Given the description of an element on the screen output the (x, y) to click on. 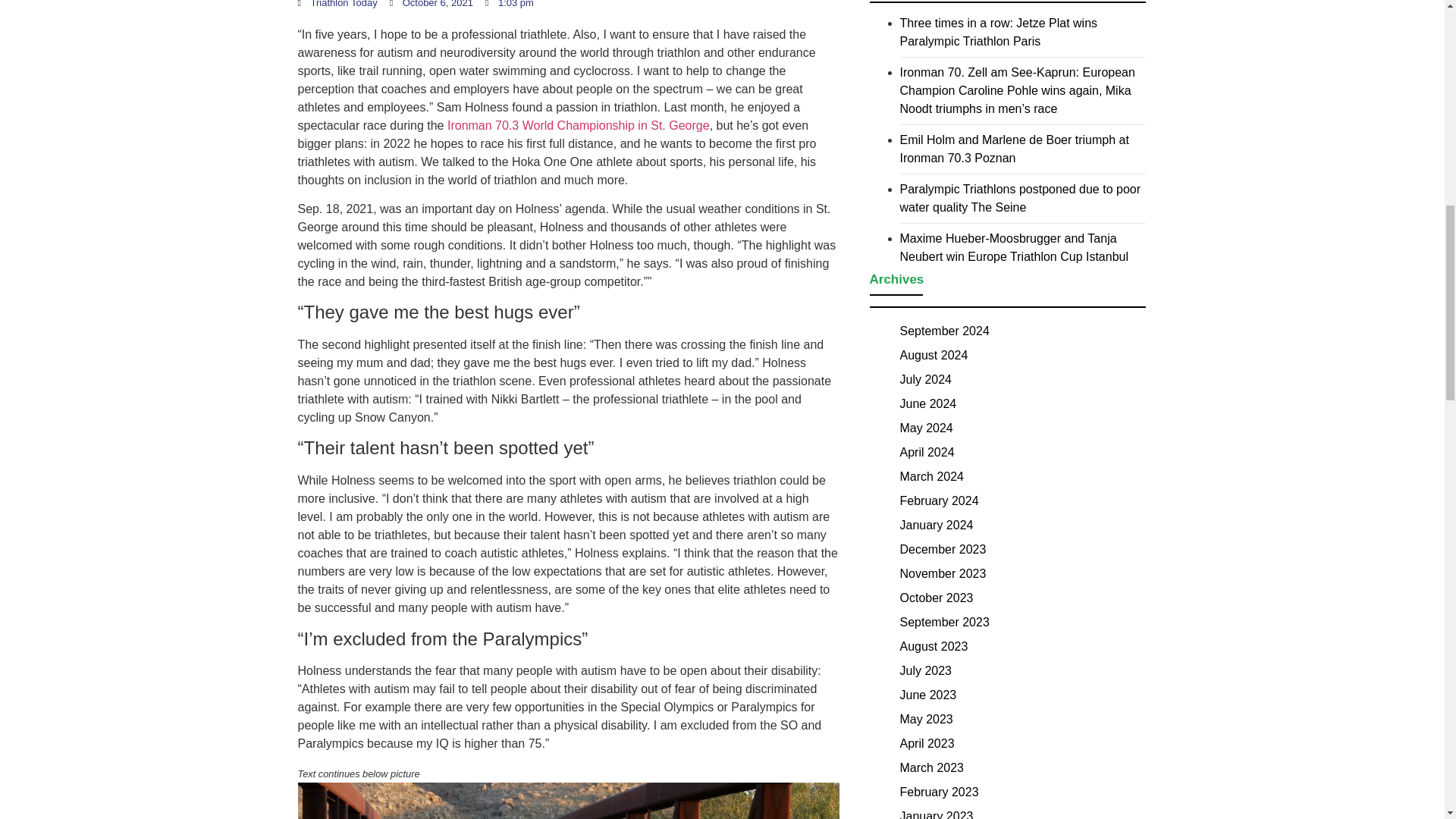
August 2024 (933, 354)
Ironman 70.3 World Championship in St. George (578, 124)
July 2024 (925, 379)
October 6, 2021 (431, 5)
Triathlon Today (337, 5)
September 2024 (943, 330)
Emil Holm and Marlene de Boer triumph at Ironman 70.3 Poznan (1013, 148)
